Given the description of an element on the screen output the (x, y) to click on. 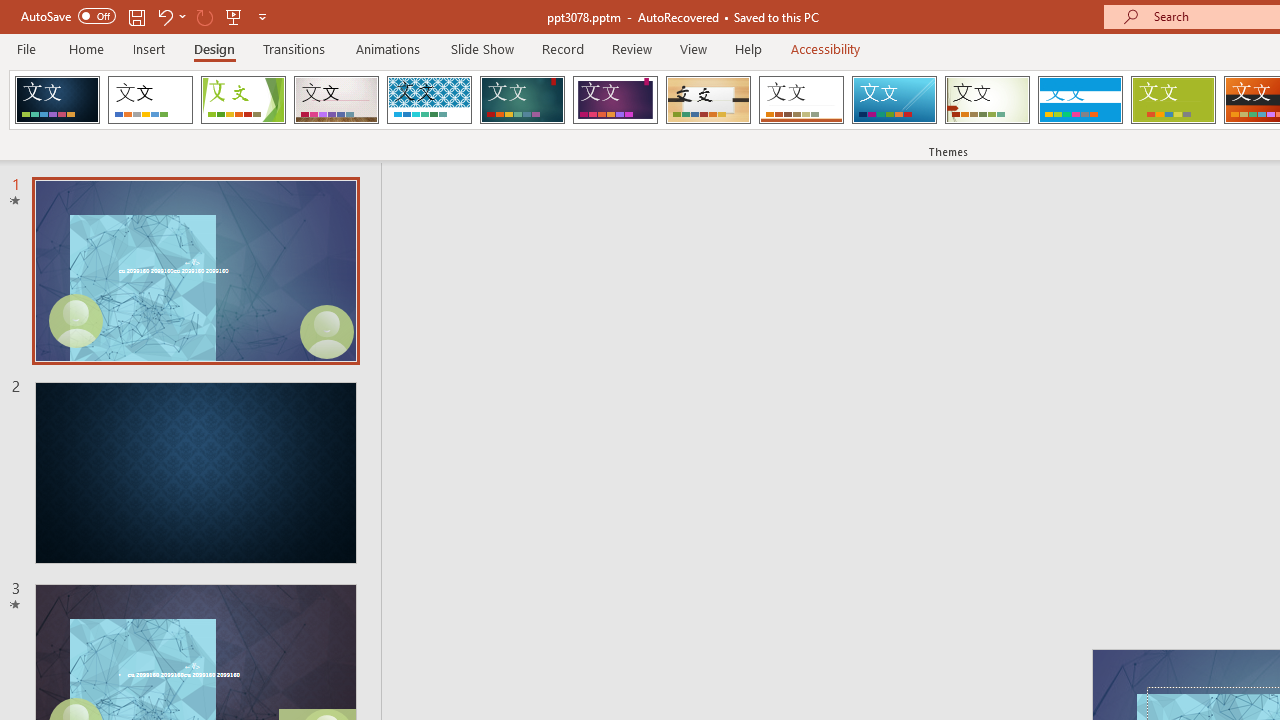
Organic (708, 100)
Wisp (987, 100)
Office Theme (150, 100)
Ion Boardroom (615, 100)
